Given the description of an element on the screen output the (x, y) to click on. 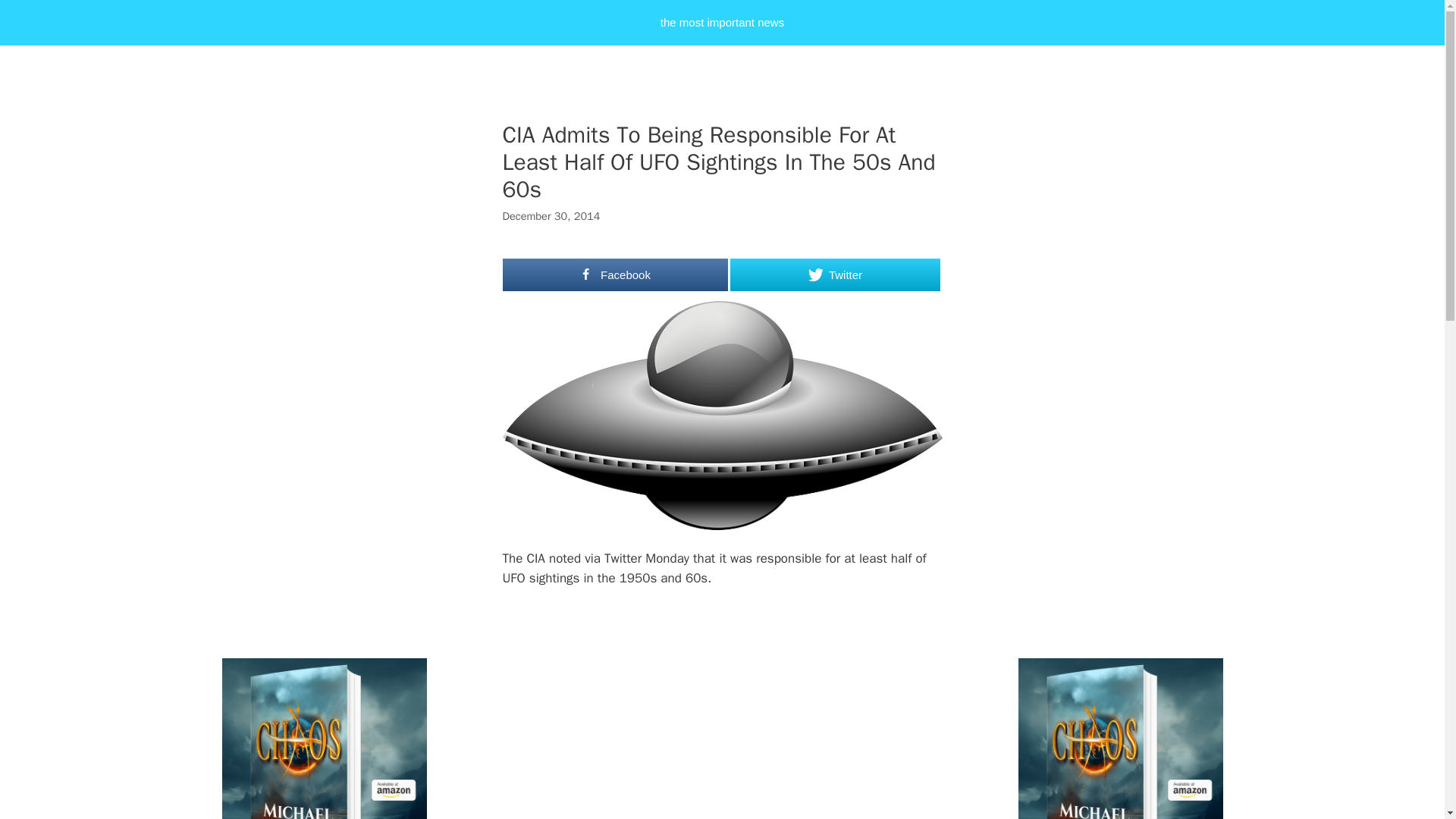
Facebook (615, 274)
Advertisement (756, 713)
Facebook (615, 274)
Search (33, 17)
the most important news (722, 22)
Twitter (834, 274)
Twitter (834, 274)
the most important news (722, 22)
